Given the description of an element on the screen output the (x, y) to click on. 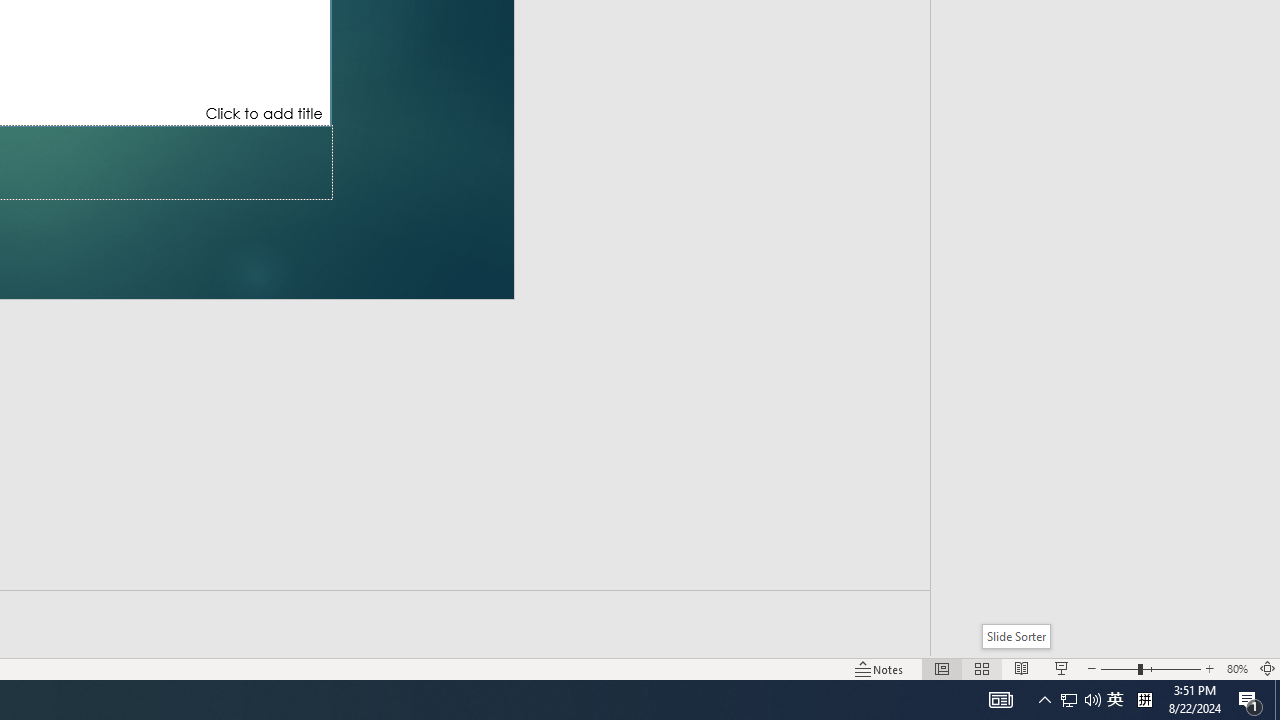
Notes  (879, 668)
Zoom 80% (1236, 668)
